Given the description of an element on the screen output the (x, y) to click on. 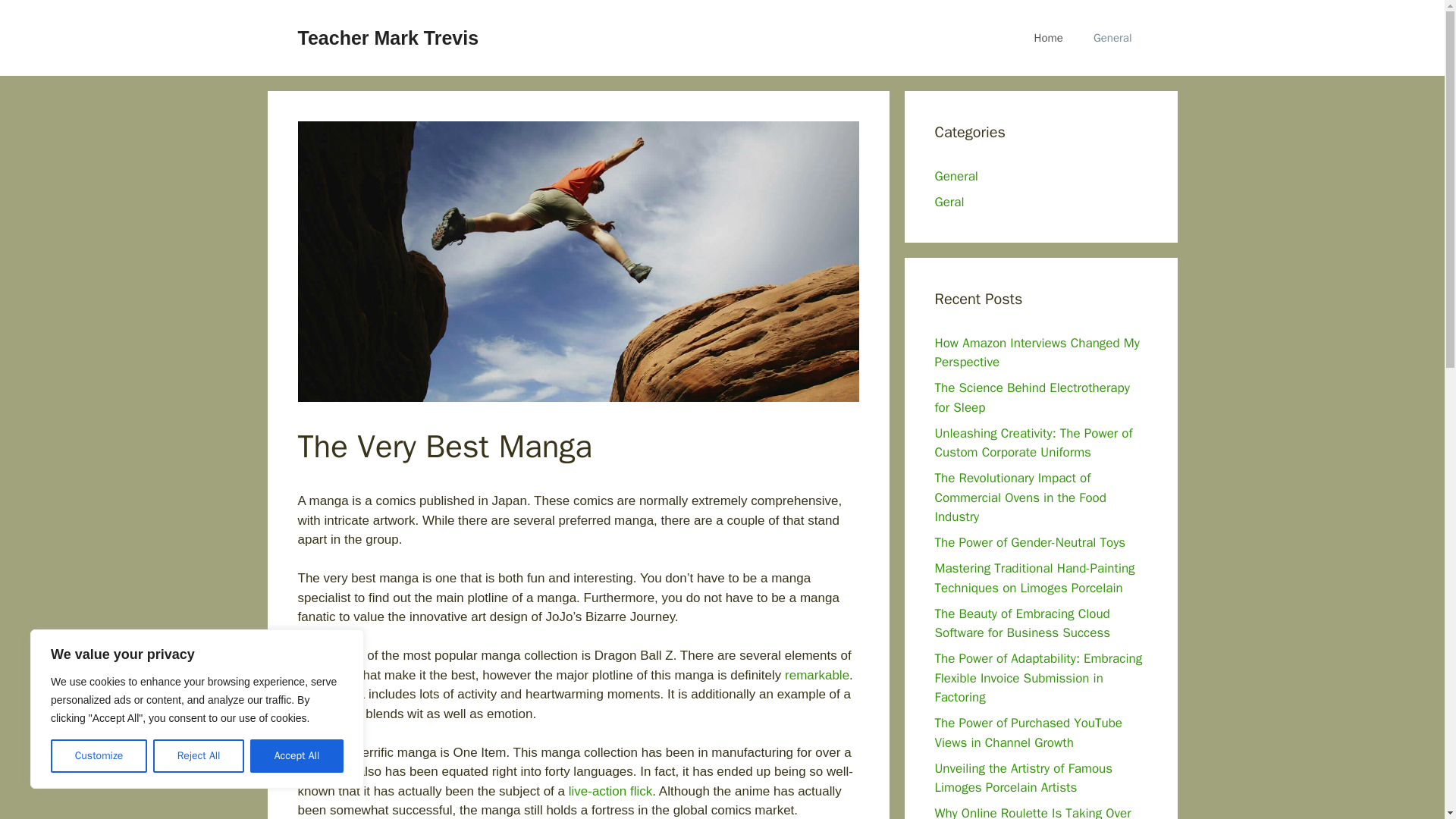
General (955, 176)
remarkable (816, 675)
Customize (98, 756)
General (1112, 37)
The Beauty of Embracing Cloud Software for Business Success (1021, 622)
Teacher Mark Trevis (388, 37)
Geral (948, 201)
Reject All (198, 756)
live-action flick (610, 790)
Accept All (296, 756)
How Amazon Interviews Changed My Perspective (1036, 352)
Home (1048, 37)
